Given the description of an element on the screen output the (x, y) to click on. 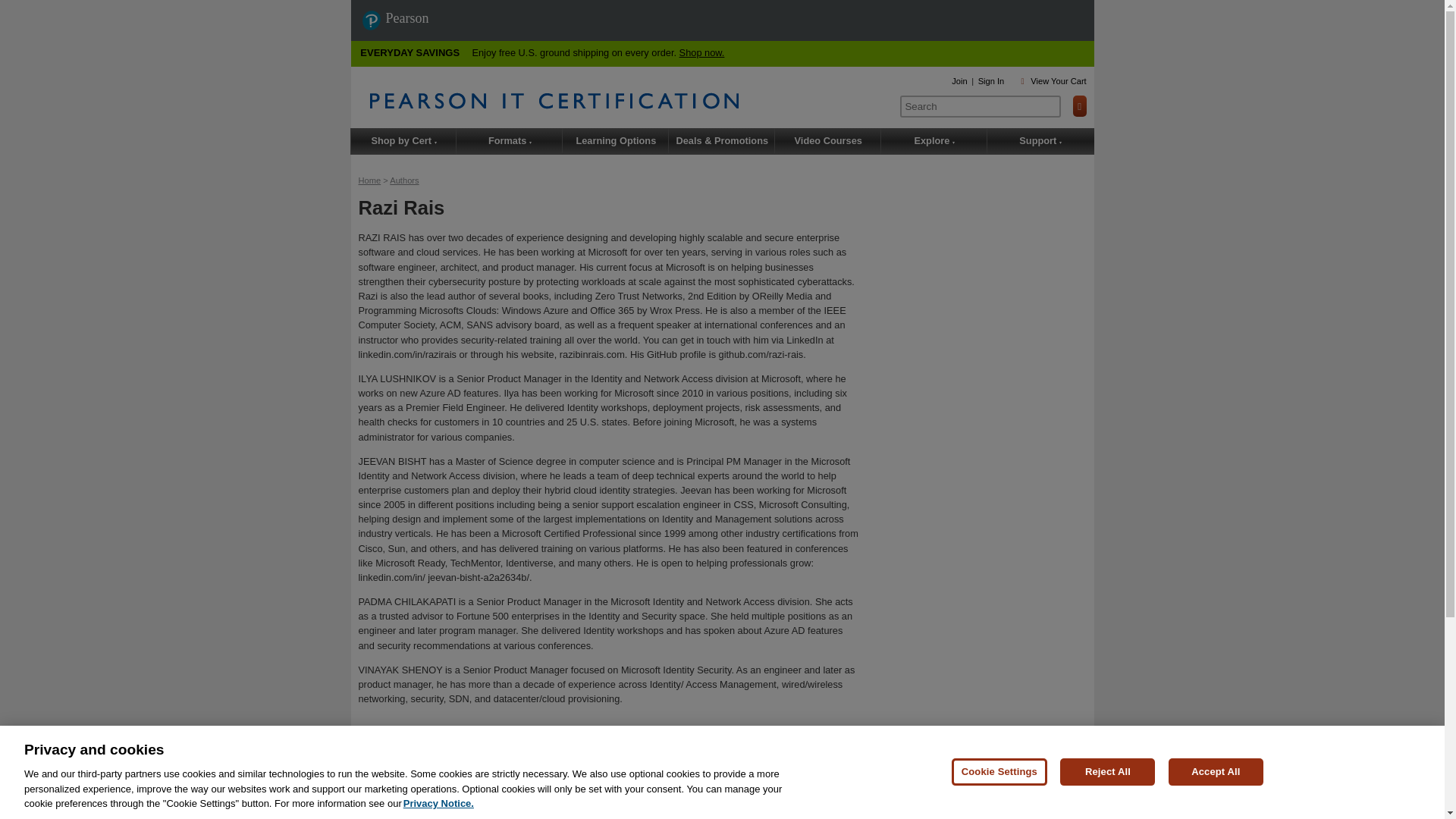
Exam Ref SC-300 Microsoft Identity and Access Administrator (559, 770)
Ilya Lushnikov (499, 784)
Razi Rais (448, 784)
Sign In (991, 80)
Join (959, 80)
Padma Chilakapati (623, 784)
Home (629, 100)
Home (369, 180)
Jeevan Bisht (555, 784)
Authors (404, 180)
